Given the description of an element on the screen output the (x, y) to click on. 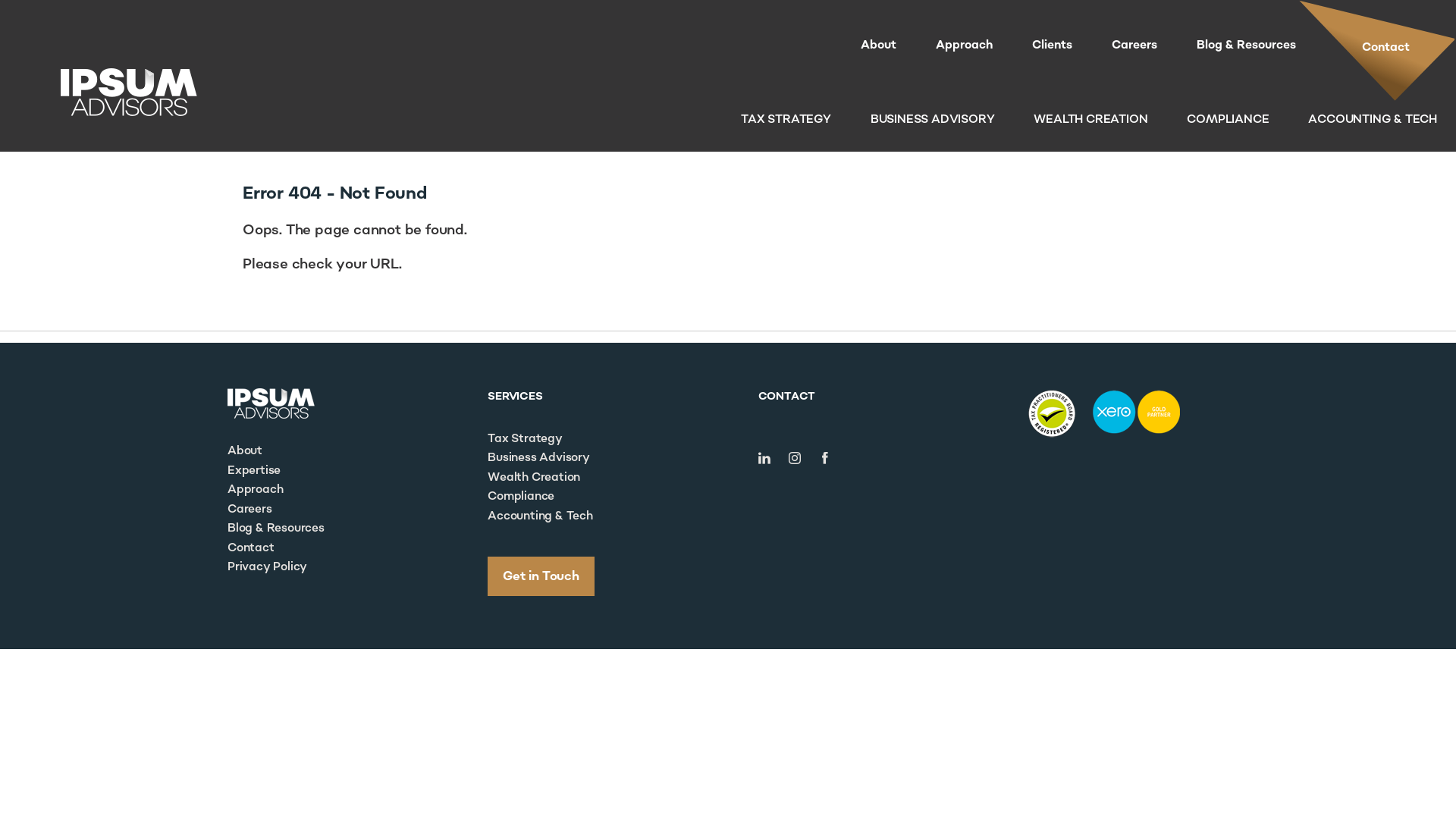
Blog & Resources Element type: text (275, 528)
About Element type: text (244, 450)
Privacy Policy Element type: text (267, 566)
Approach Element type: text (963, 45)
Contact Element type: text (250, 547)
Expertise Element type: text (253, 470)
Ipsum Advisors Element type: text (128, 92)
Accounting & Tech Element type: text (540, 516)
WEALTH CREATION Element type: text (1090, 119)
Approach Element type: text (254, 489)
Business Advisory Element type: text (538, 457)
BUSINESS ADVISORY Element type: text (932, 119)
Clients Element type: text (1052, 45)
Contact Element type: text (1376, 50)
Get in Touch Element type: text (540, 576)
ACCOUNTING & TECH Element type: text (1372, 119)
Tax Strategy Element type: text (524, 438)
About Element type: text (878, 45)
Compliance Element type: text (520, 496)
TAX STRATEGY Element type: text (785, 119)
COMPLIANCE Element type: text (1227, 119)
Wealth Creation Element type: text (533, 477)
LinkedIn Element type: text (764, 457)
Instagram Element type: text (794, 457)
Careers Element type: text (1134, 45)
Facebook Element type: text (825, 457)
Ipsum Advisors Element type: text (270, 403)
Blog & Resources Element type: text (1245, 45)
Careers Element type: text (249, 509)
